Given the description of an element on the screen output the (x, y) to click on. 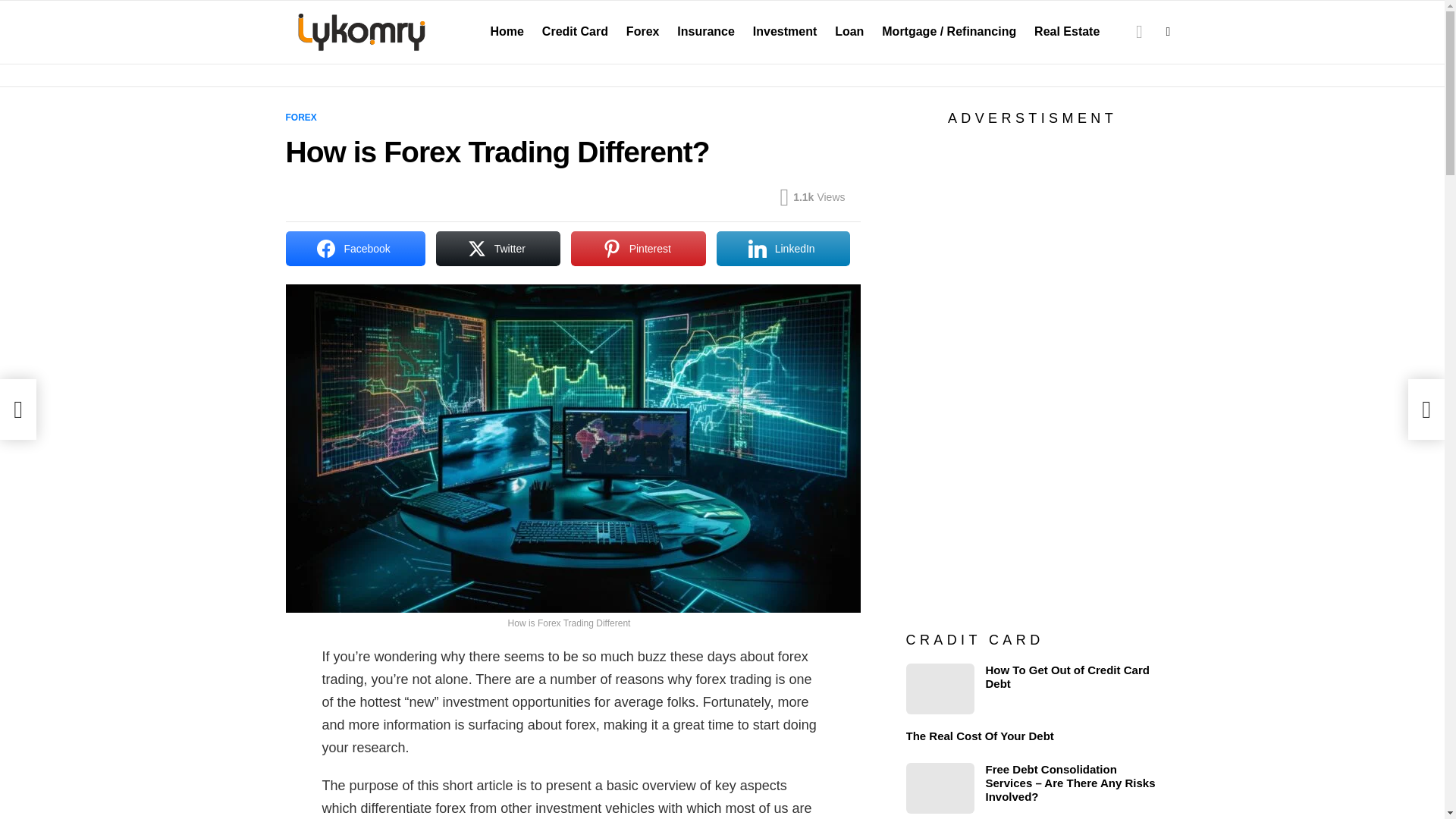
FOREX (303, 117)
Share on Twitter (497, 248)
Loan (848, 31)
Real Estate (1066, 31)
Pinterest (638, 248)
Share on LinkedIn (783, 248)
Home (506, 31)
LinkedIn (783, 248)
Forex (642, 31)
Investment (784, 31)
